Given the description of an element on the screen output the (x, y) to click on. 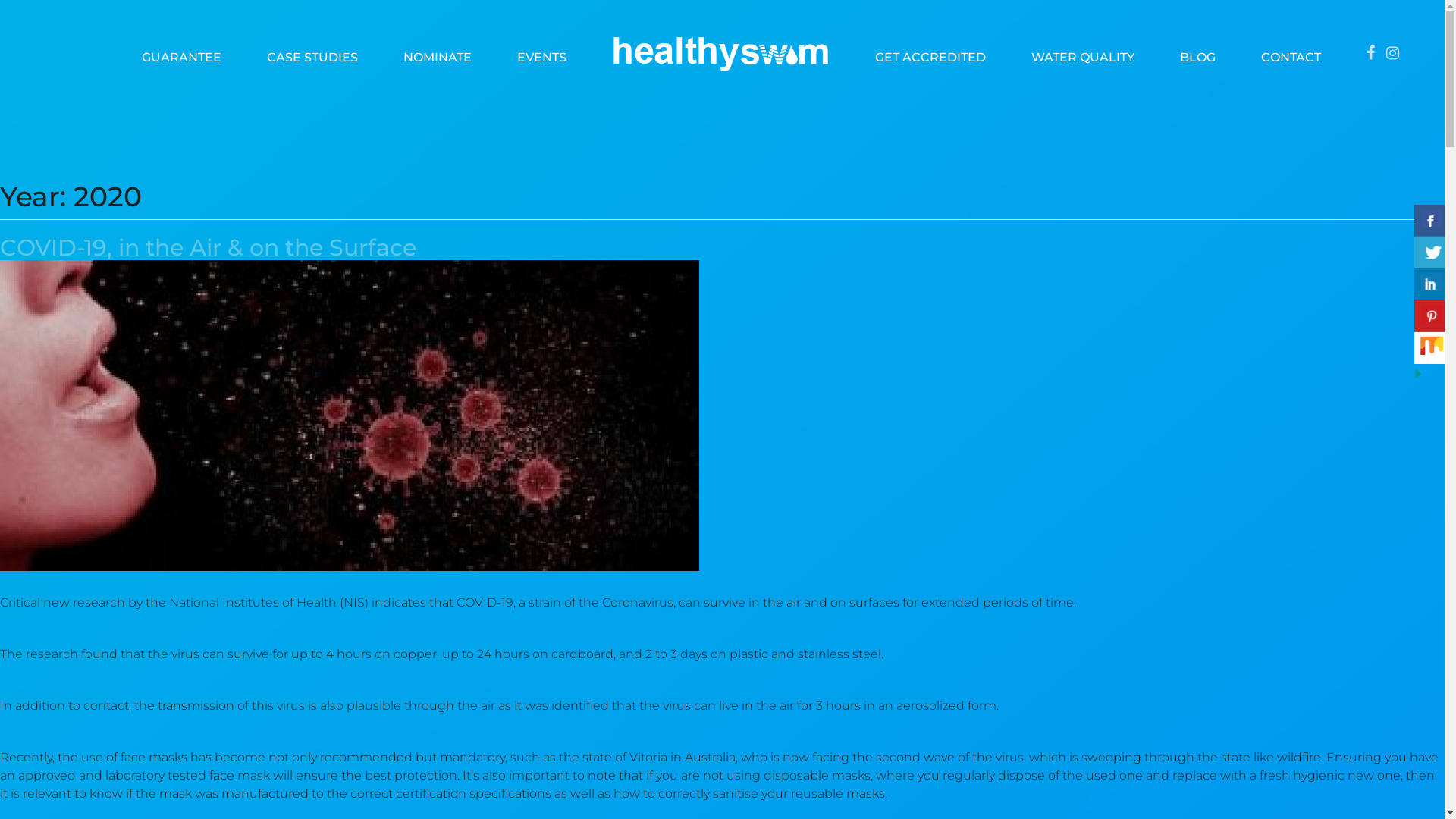
Share On Stumbleupon Element type: hover (1431, 348)
BLOG Element type: text (1197, 52)
NOMINATE Element type: text (437, 52)
COVID-19, in the Air & on the Surface Element type: text (208, 247)
Hide Buttons Element type: hover (1430, 372)
Share On Linkedin Element type: hover (1431, 284)
CASE STUDIES Element type: text (311, 52)
HOME V2 Element type: text (720, 52)
GET ACCREDITED Element type: text (930, 52)
Share On Facebook Element type: hover (1431, 220)
Share This With Your Friends Element type: hover (1429, 293)
WATER QUALITY Element type: text (1082, 52)
Share On Pinterest Element type: hover (1431, 316)
GUARANTEE Element type: text (181, 52)
CONTACT Element type: text (1291, 52)
Share On Twitter Element type: hover (1431, 252)
EVENTS Element type: text (541, 52)
